Given the description of an element on the screen output the (x, y) to click on. 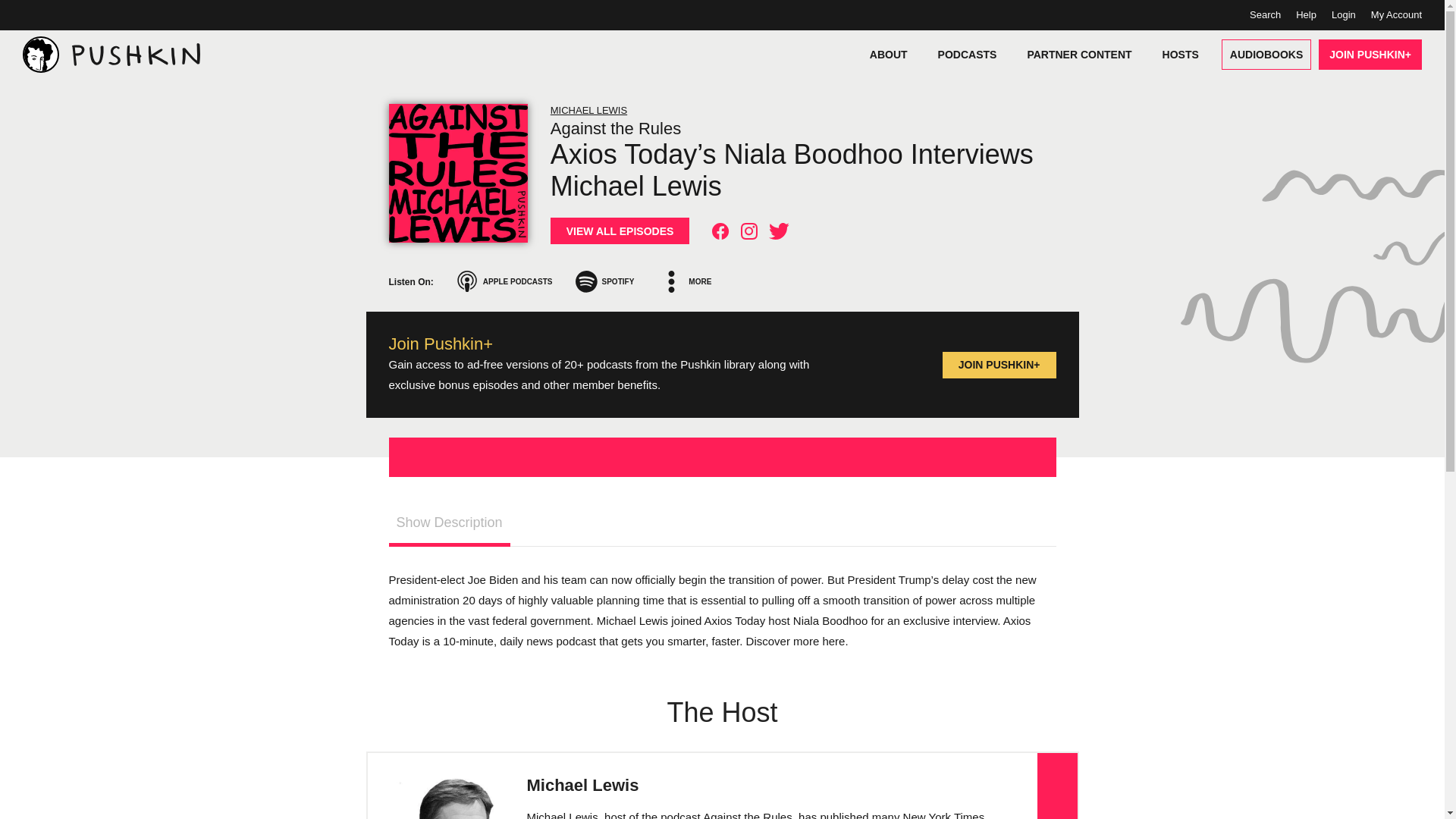
Against the Rules (803, 128)
MORE (686, 281)
Show Description (448, 524)
My Account (1396, 14)
HOSTS (1180, 54)
Login (1343, 14)
MICHAEL LEWIS (588, 110)
Michael Lewis (582, 784)
Help (1305, 14)
